Given the description of an element on the screen output the (x, y) to click on. 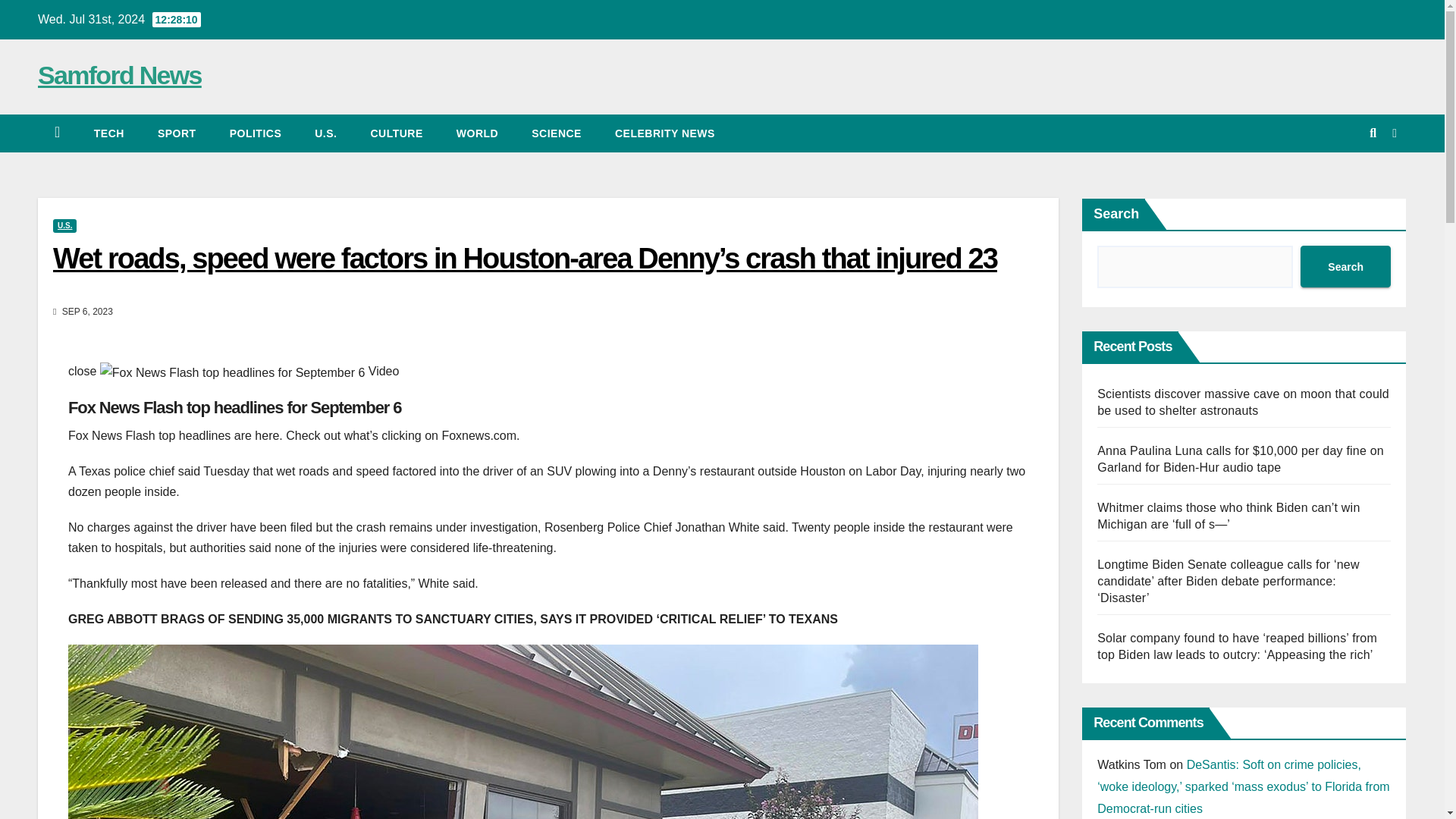
WORLD (477, 133)
World (477, 133)
Tech (109, 133)
U.S. (325, 133)
SPORT (176, 133)
CELEBRITY NEWS (665, 133)
U.S. (325, 133)
CULTURE (396, 133)
Politics (255, 133)
SCIENCE (556, 133)
Celebrity News (665, 133)
Culture (396, 133)
TECH (109, 133)
Sport (176, 133)
Search (1345, 266)
